Given the description of an element on the screen output the (x, y) to click on. 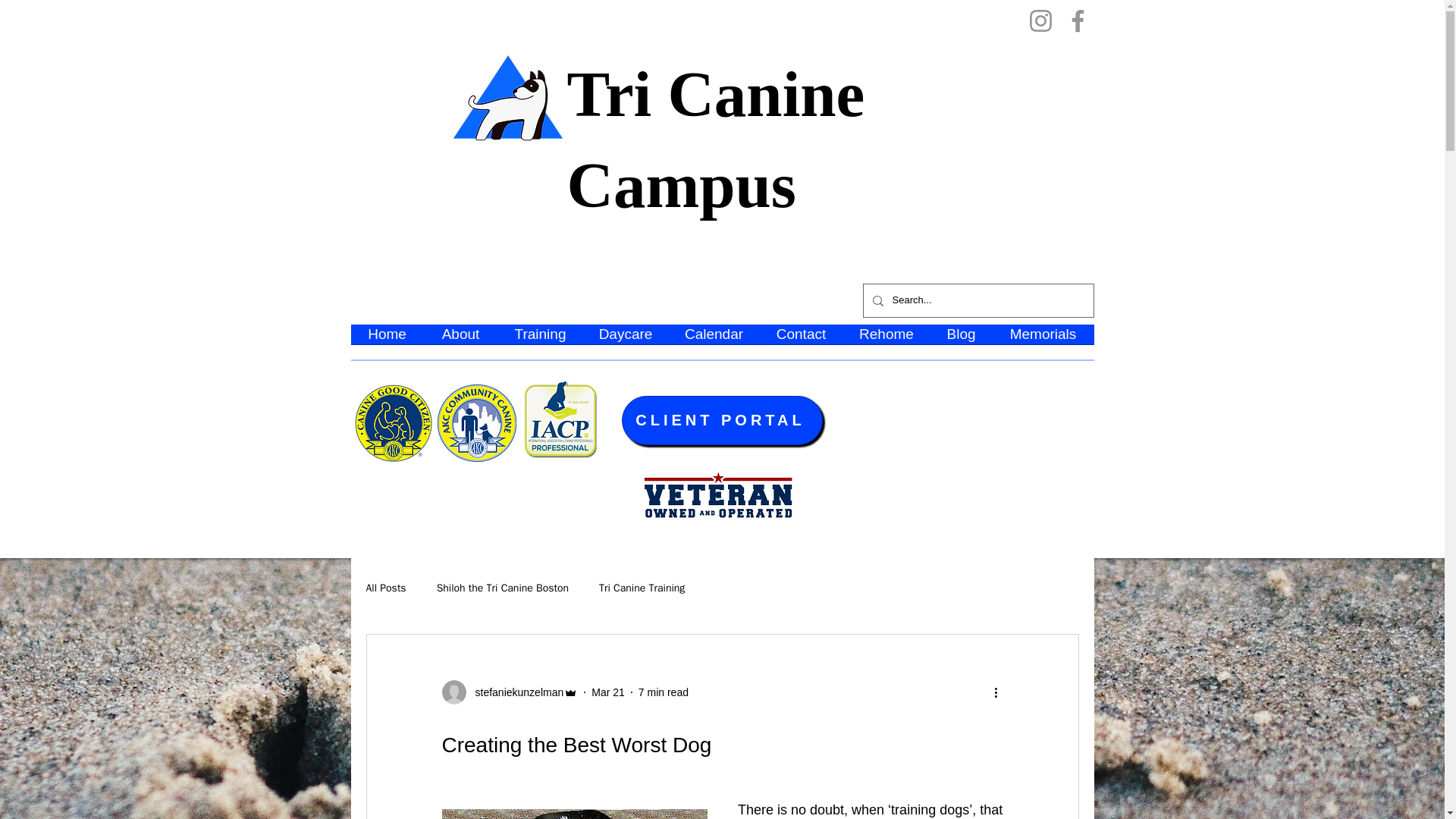
CLIENT PORTAL (721, 420)
stefaniekunzelman (514, 691)
Memorials (1042, 338)
Home (386, 338)
Daycare (625, 338)
Mar 21 (607, 691)
Tri Canine Training (641, 588)
About (460, 338)
Rehome (886, 338)
Contact (801, 338)
